Given the description of an element on the screen output the (x, y) to click on. 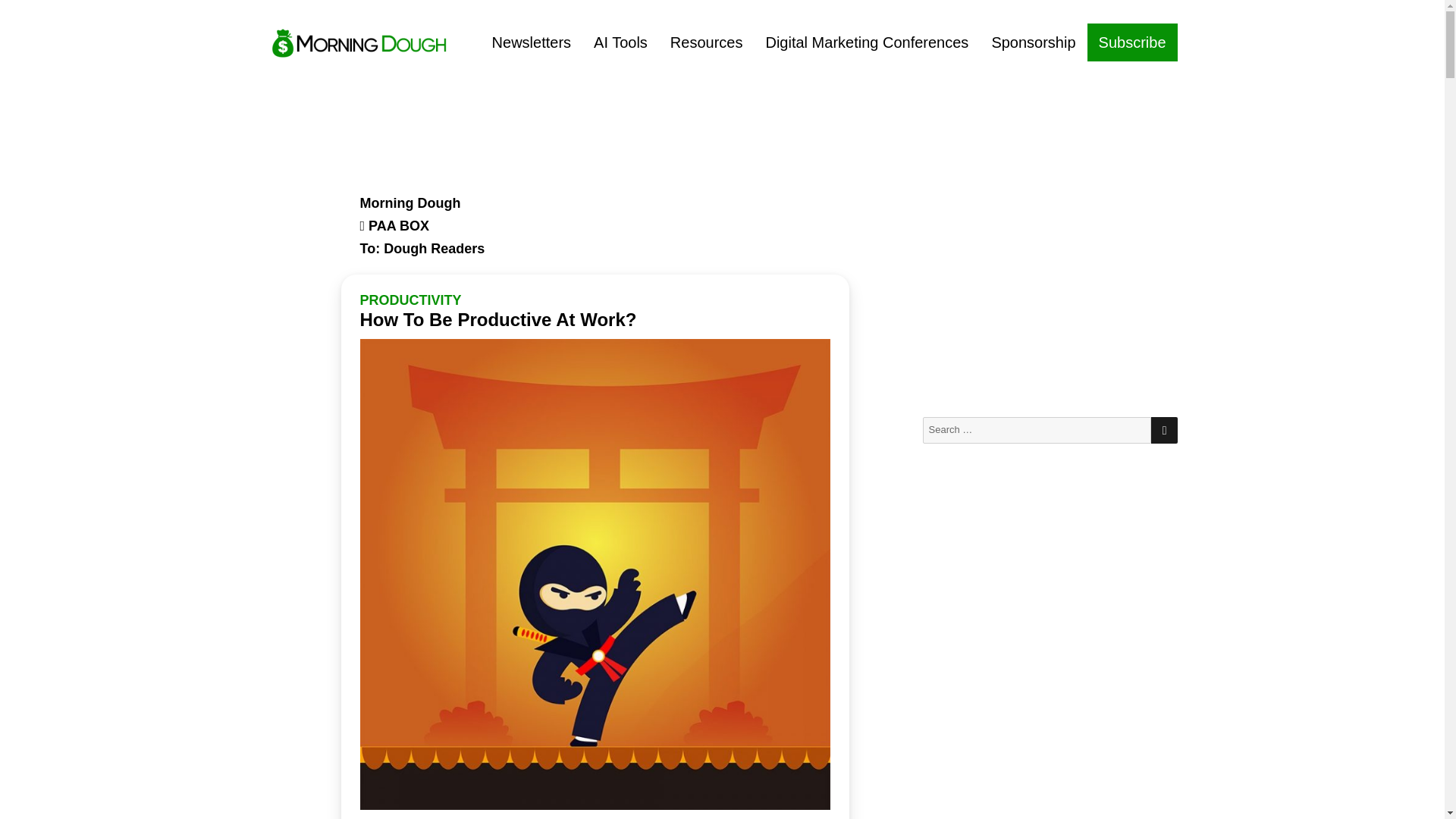
Sponsorship (1032, 42)
Digital Marketing Conferences (866, 42)
Resources (706, 42)
Newsletters (531, 42)
Subscribe (1132, 42)
AI Tools (620, 42)
